Given the description of an element on the screen output the (x, y) to click on. 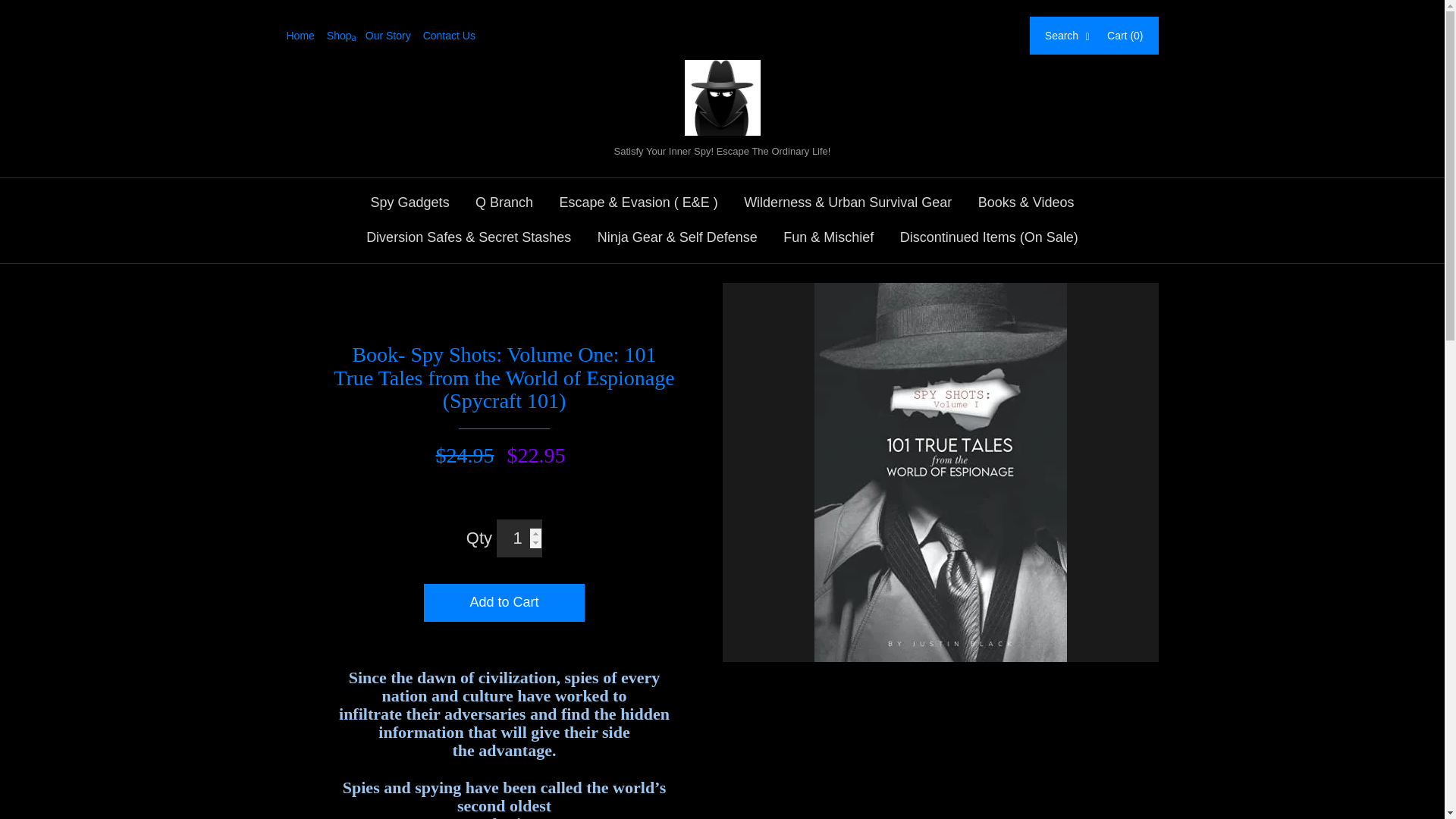
Q Branch (504, 202)
Search (1068, 35)
Contact Us (455, 35)
Spy Gadgets (410, 202)
Home (306, 35)
Add to Cart (503, 602)
1 (518, 538)
Add to Cart (503, 602)
Shop (345, 35)
Our Story (394, 35)
